Given the description of an element on the screen output the (x, y) to click on. 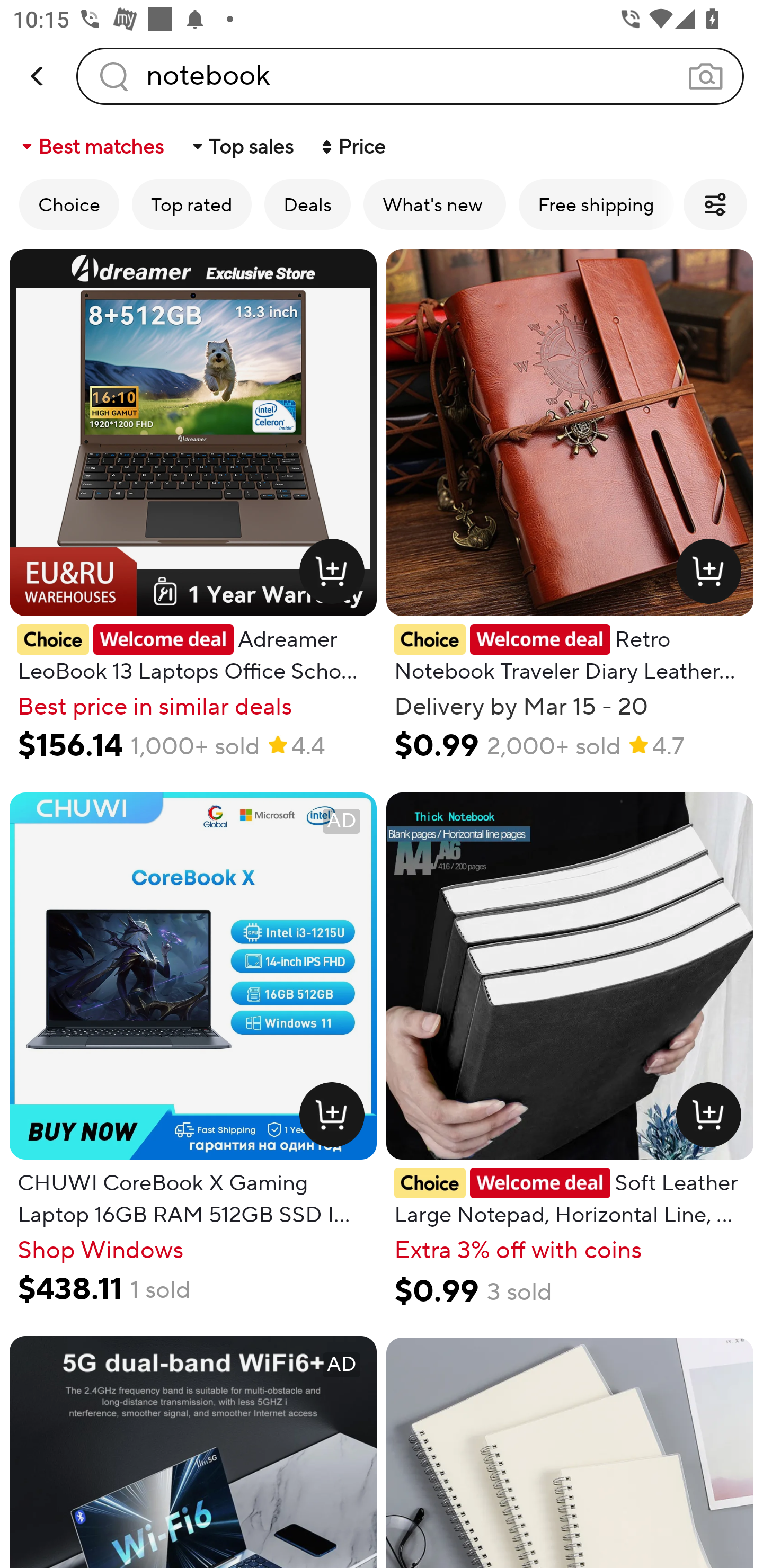
back (38, 75)
notebook Search query (409, 76)
notebook Search query (409, 76)
Best matches (91, 146)
Top sales (241, 146)
Price (352, 146)
Choice (69, 204)
Top rated (191, 204)
Deals (307, 204)
What's new  (434, 204)
Free shipping (595, 204)
